Given the description of an element on the screen output the (x, y) to click on. 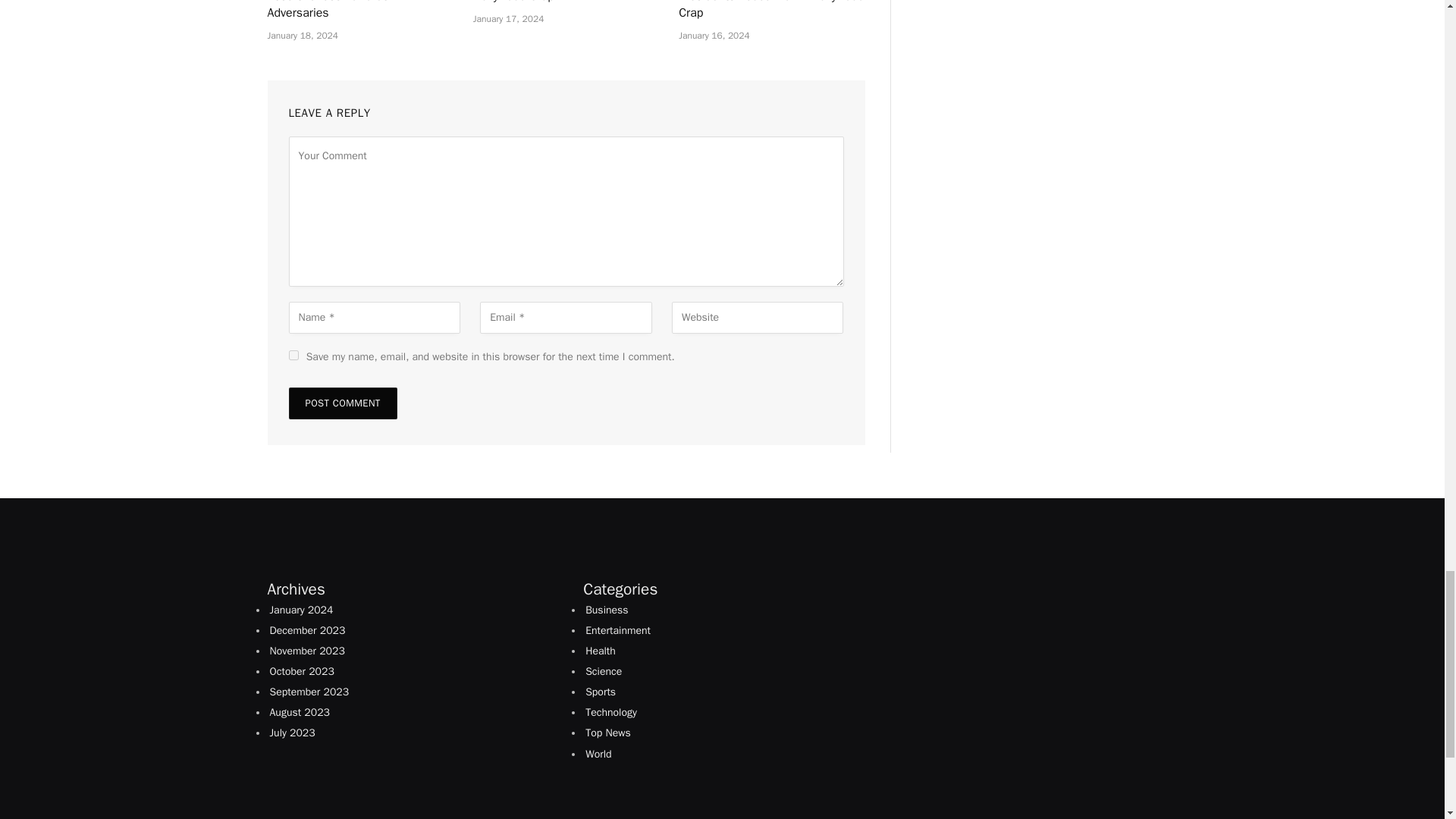
Post Comment (342, 403)
yes (293, 355)
